Given the description of an element on the screen output the (x, y) to click on. 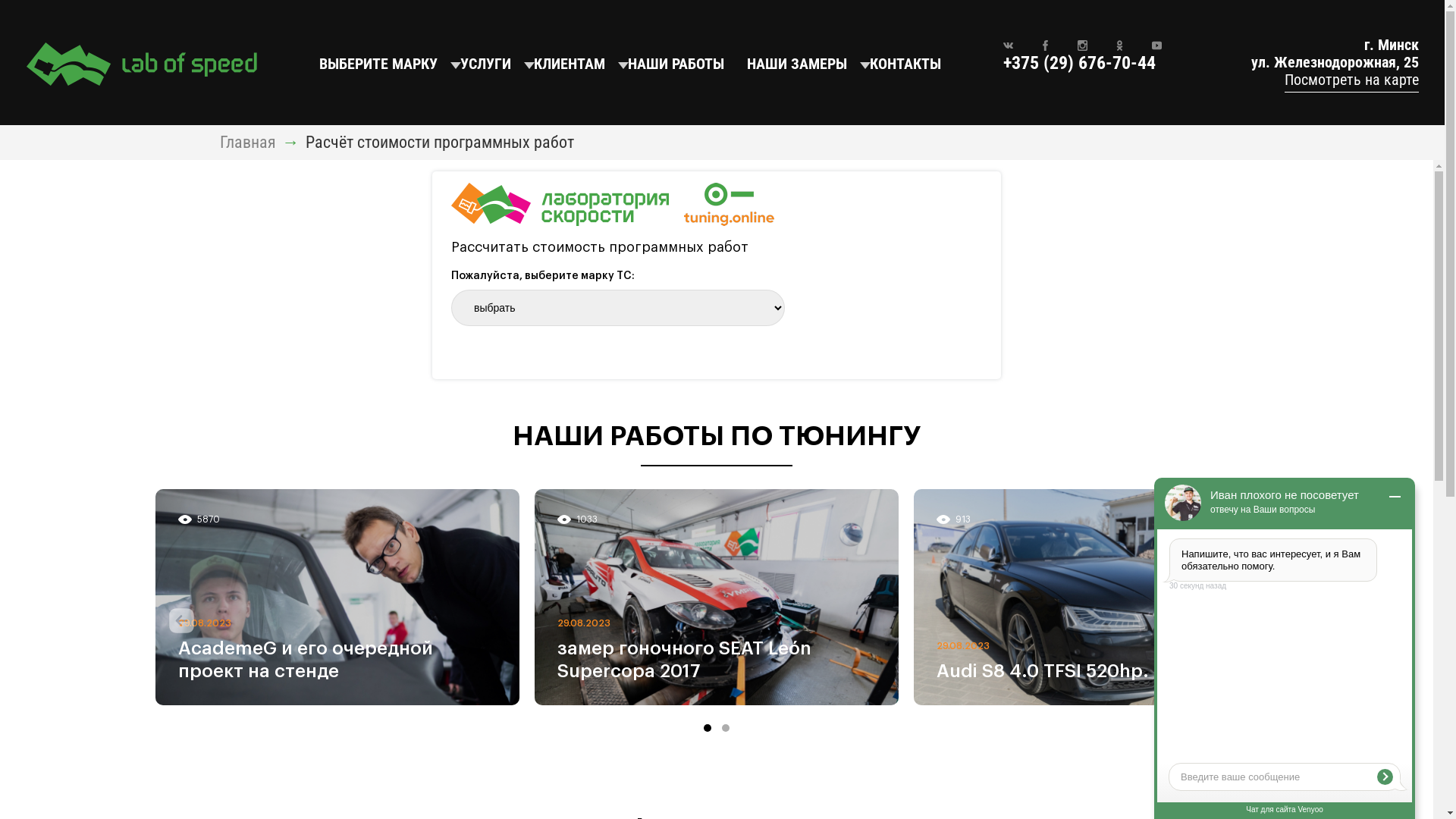
+375 (29) 676-70-44 Element type: text (1078, 62)
